Given the description of an element on the screen output the (x, y) to click on. 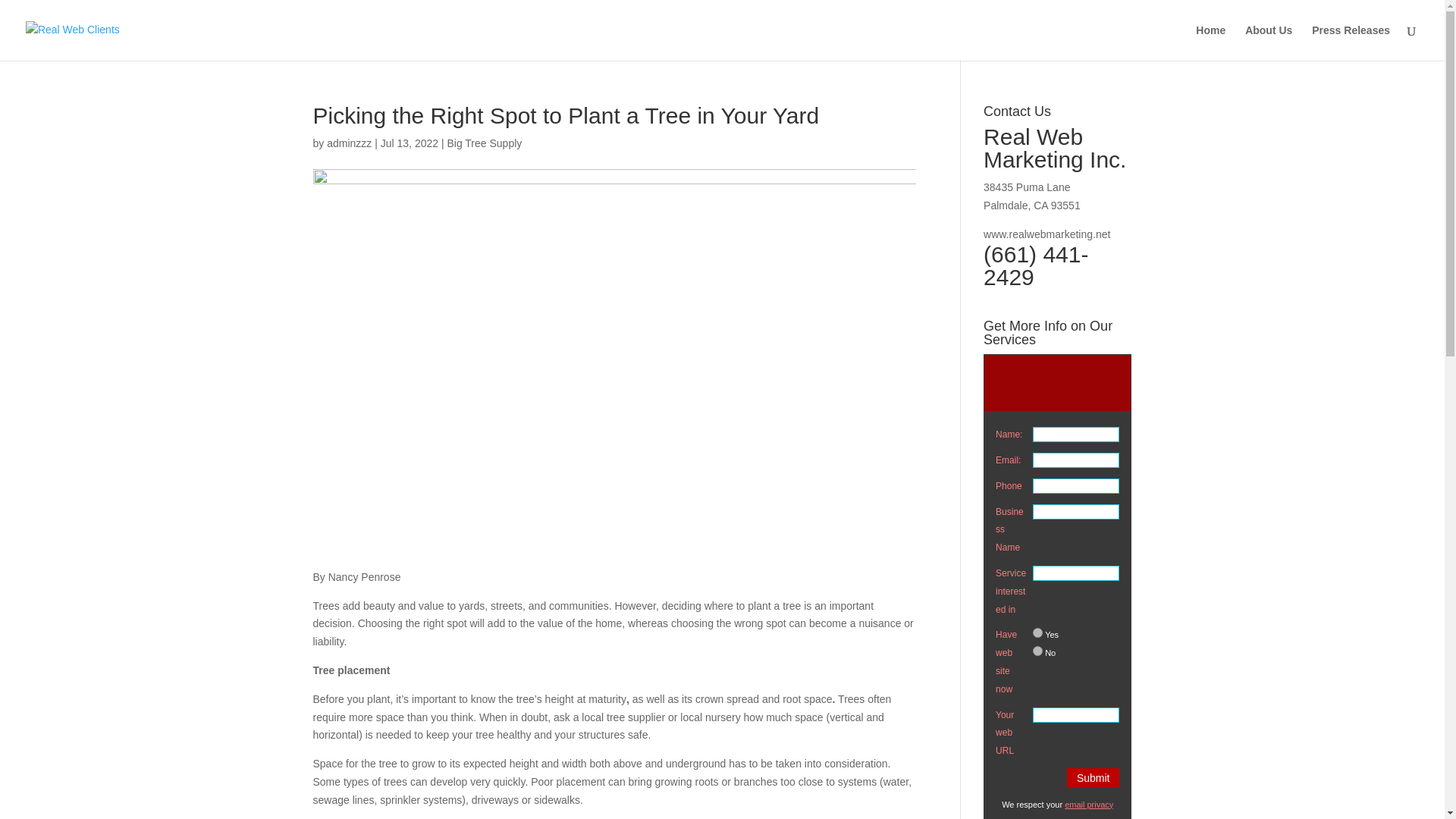
Press Releases (1350, 42)
Yes (1037, 633)
adminzzz (348, 143)
About Us (1268, 42)
Big Tree Supply (483, 143)
Submit (1093, 777)
Privacy Policy (1088, 804)
No (1037, 651)
Submit (1093, 777)
email privacy (1088, 804)
Posts by adminzzz (348, 143)
www.realwebmarketing.net (1046, 234)
